Given the description of an element on the screen output the (x, y) to click on. 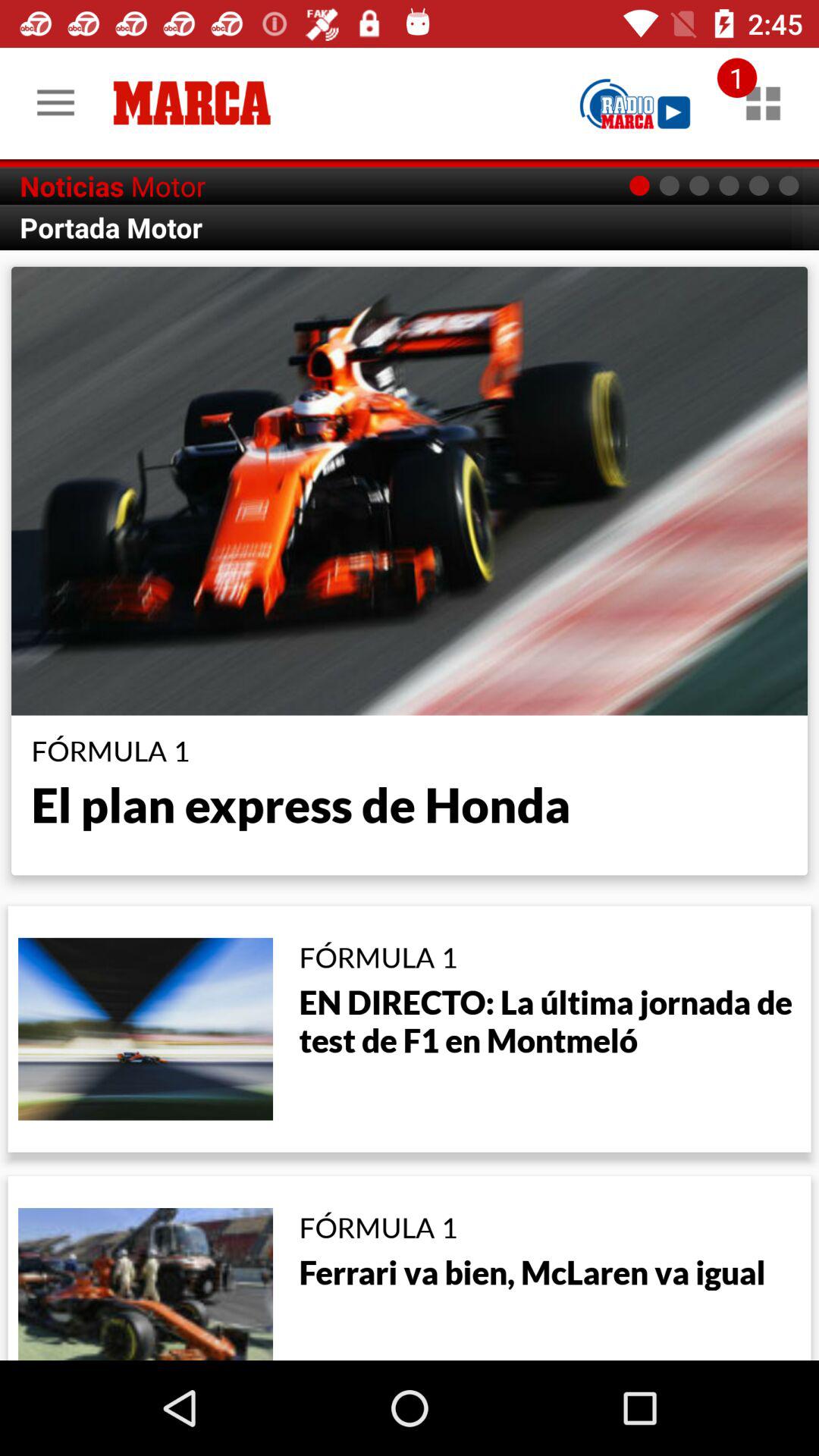
switch autoplay (635, 103)
